Given the description of an element on the screen output the (x, y) to click on. 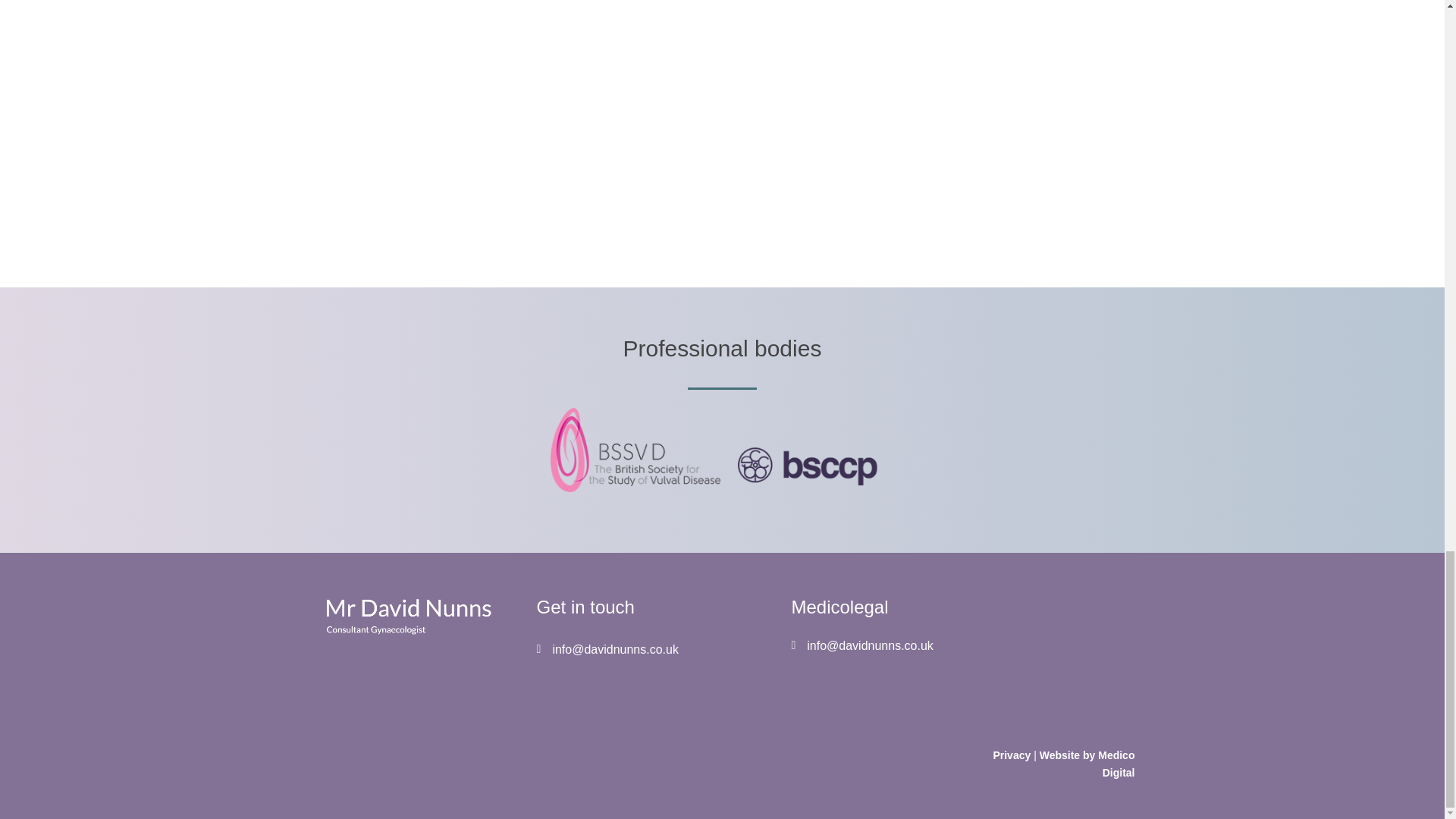
Mr-David-Nunns-logo-white (406, 616)
Privacy (1011, 755)
Website by Medico Digital (1087, 763)
